Given the description of an element on the screen output the (x, y) to click on. 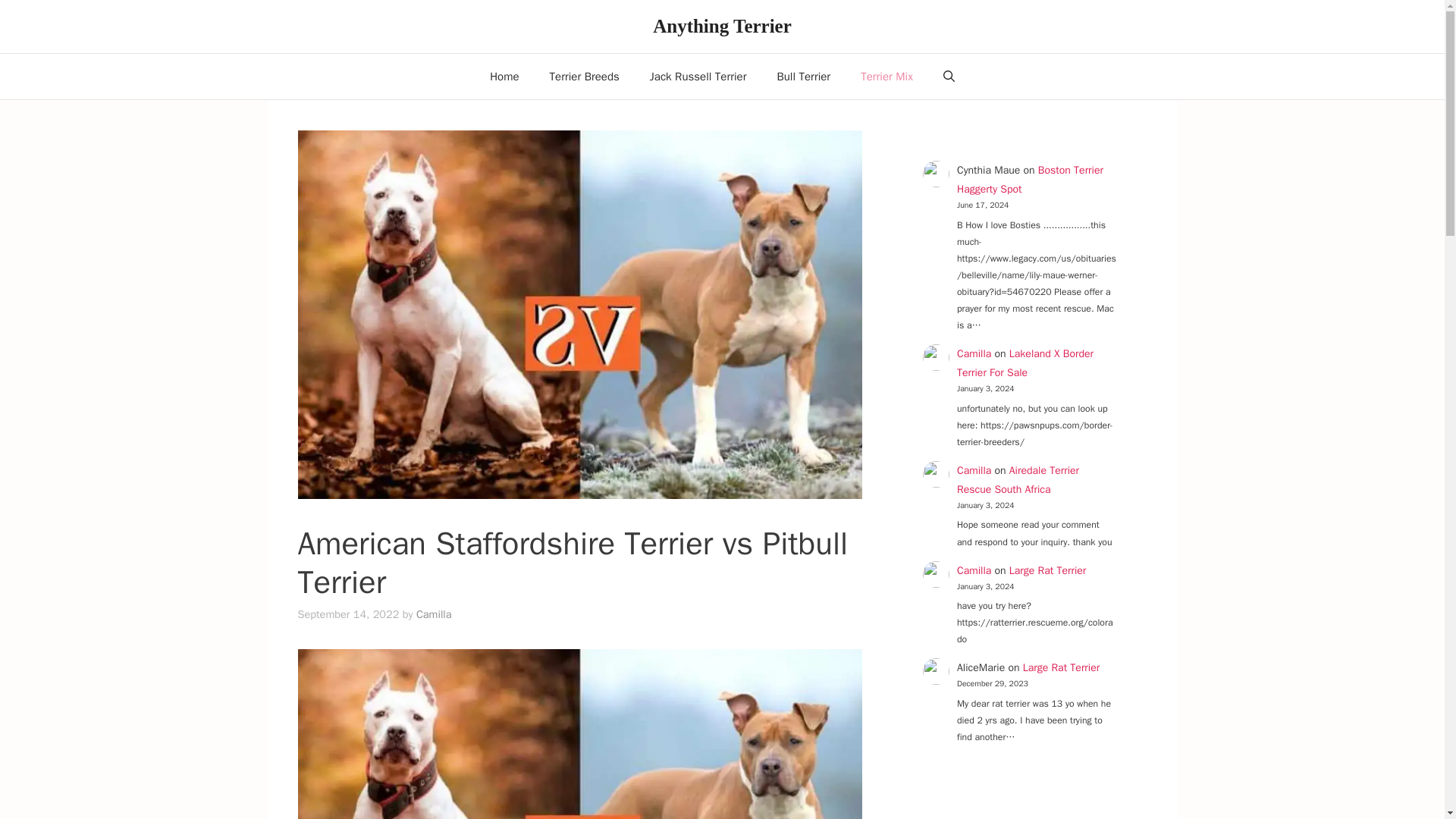
Terrier Mix (886, 76)
Jack Russell Terrier (697, 76)
Large Rat Terrier (1047, 570)
Camilla (973, 353)
Boston Terrier Haggerty Spot (1029, 179)
Anything Terrier (722, 25)
Terrier Breeds (584, 76)
Bull Terrier (803, 76)
Lakeland X Border Terrier For Sale (1024, 363)
Camilla (973, 470)
